Given the description of an element on the screen output the (x, y) to click on. 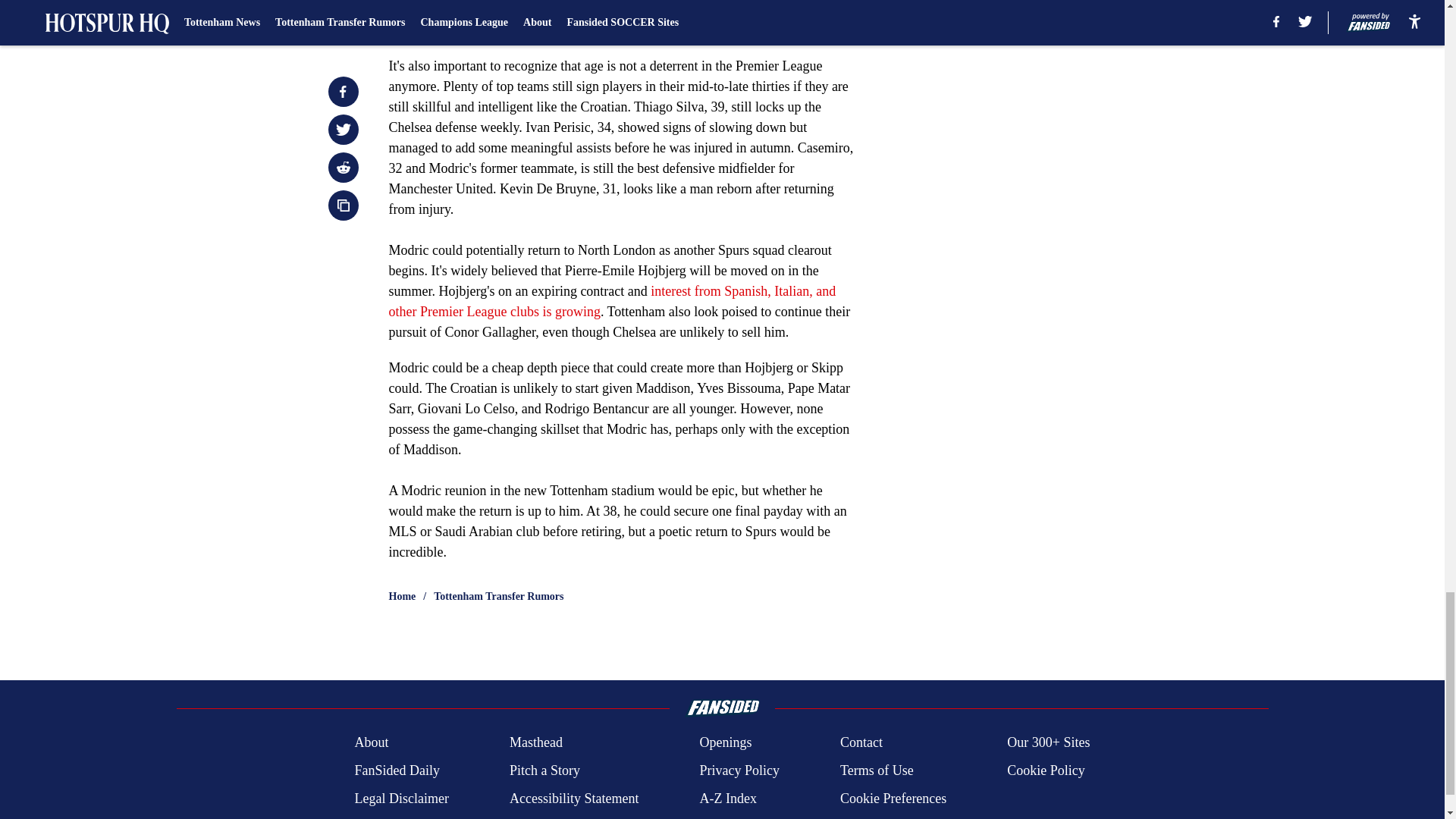
Cookie Preferences (893, 798)
Tottenham Transfer Rumors (498, 596)
Privacy Policy (738, 770)
Openings (724, 742)
Legal Disclaimer (400, 798)
Home (401, 596)
About (370, 742)
FanSided Daily (396, 770)
Terms of Use (877, 770)
Accessibility Statement (574, 798)
A-Z Index (726, 798)
Cookie Policy (1045, 770)
Pitch a Story (544, 770)
Masthead (535, 742)
